Given the description of an element on the screen output the (x, y) to click on. 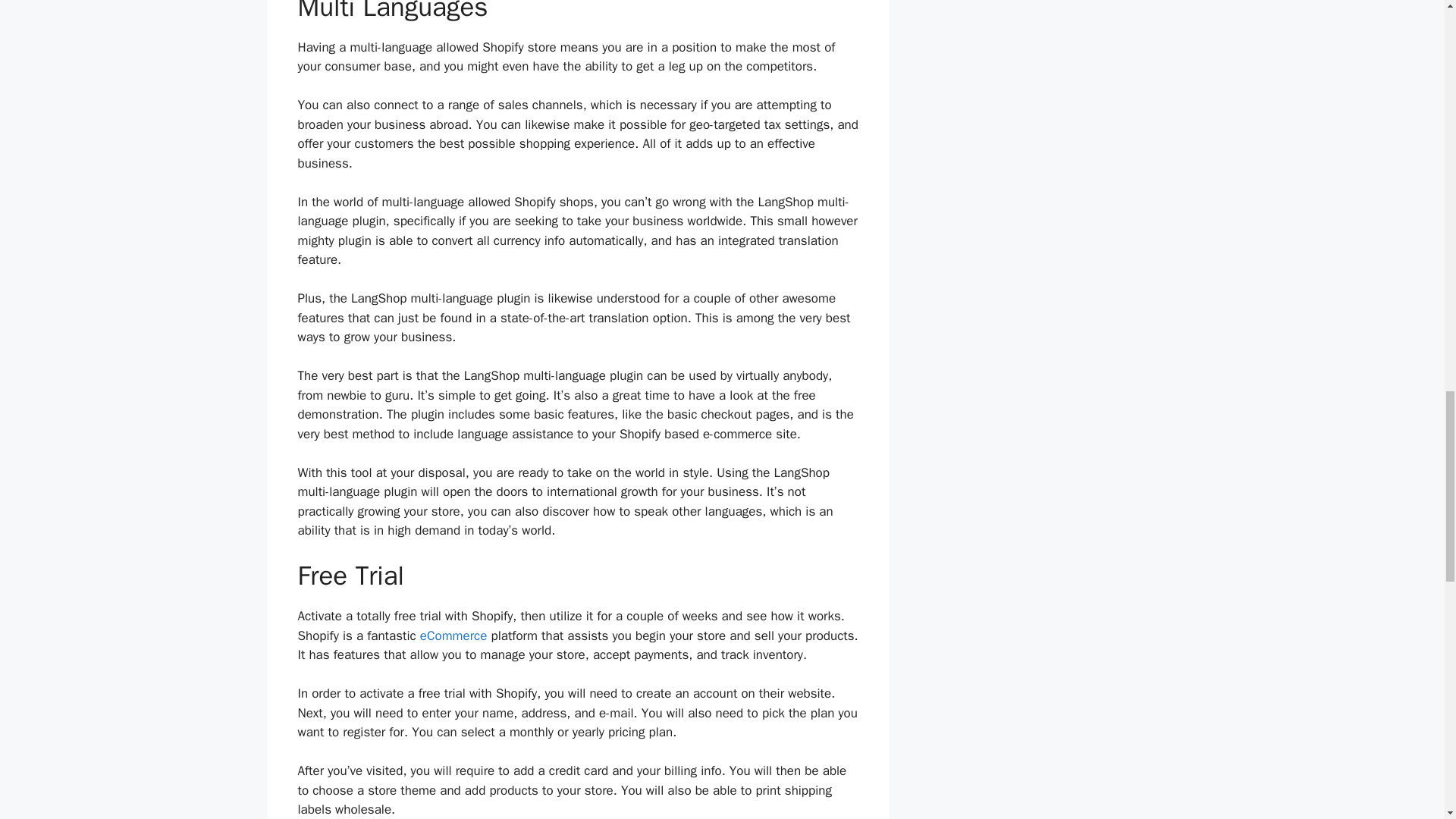
eCommerce (453, 635)
